Given the description of an element on the screen output the (x, y) to click on. 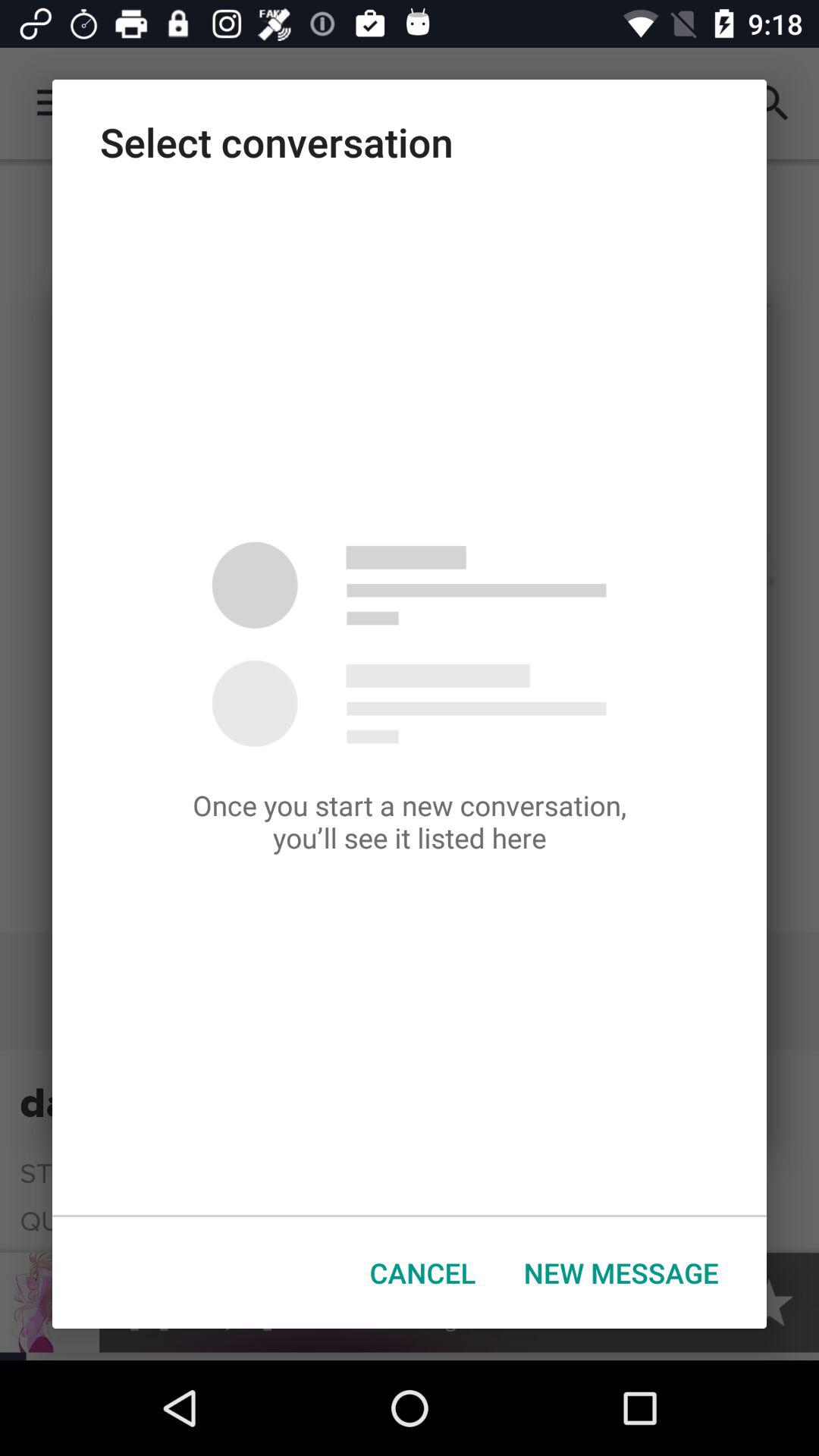
press cancel button (422, 1272)
